Given the description of an element on the screen output the (x, y) to click on. 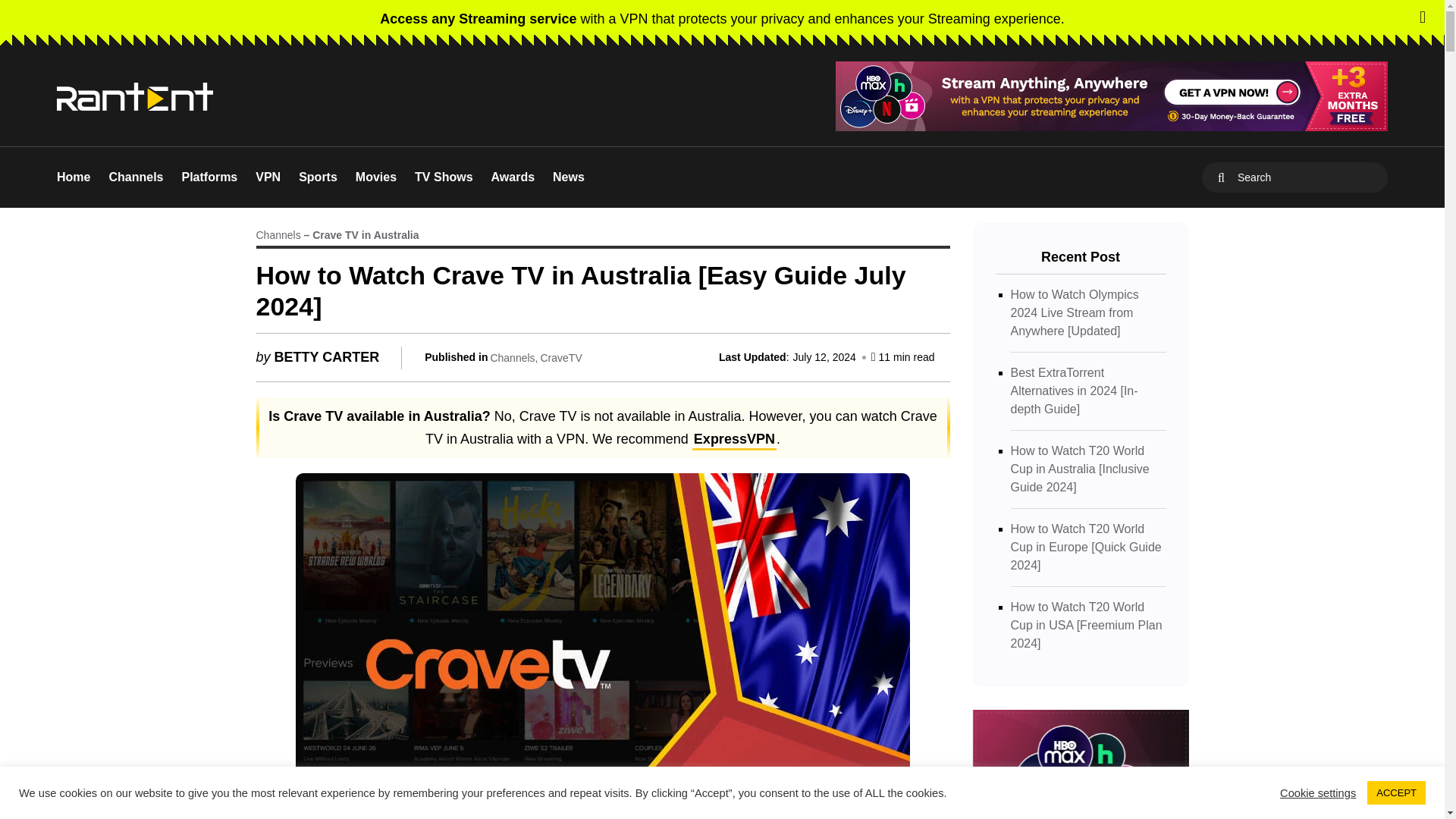
Platforms (208, 177)
ExpressVPN Hello Bar (722, 18)
Channels (135, 177)
ExpressVPN Exclusive Deal (1111, 95)
ExpressVPN Exclusive Deal (1111, 96)
ExpressVPN Crave TV in Australia (734, 440)
TV Shows (442, 177)
